Given the description of an element on the screen output the (x, y) to click on. 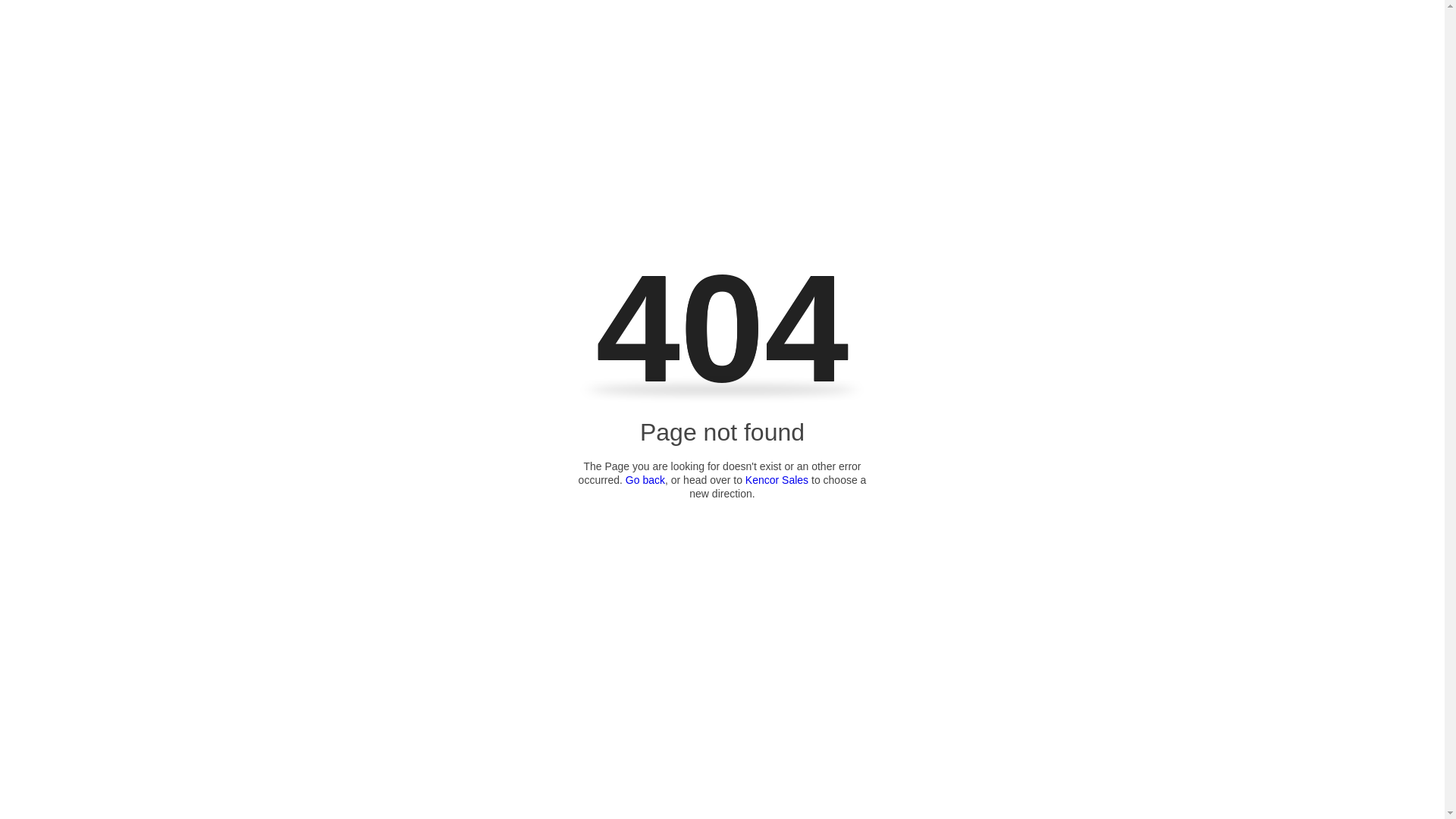
Go back Element type: text (645, 479)
Kencor Sales Element type: text (776, 479)
